Given the description of an element on the screen output the (x, y) to click on. 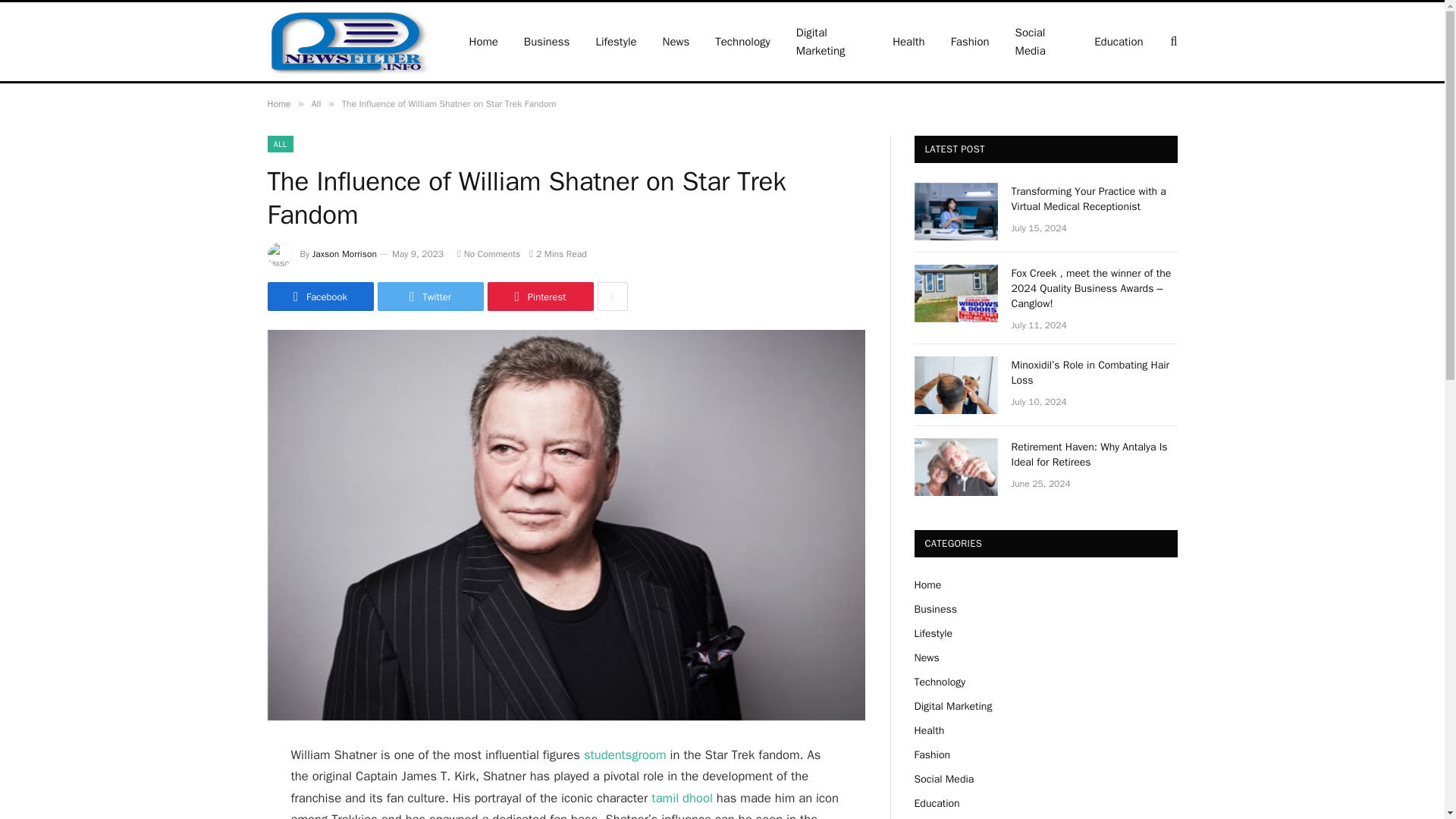
Newsfilter.info (347, 41)
No Comments (488, 254)
ALL (279, 143)
Facebook (319, 296)
tamil dhool (681, 797)
Digital Marketing (831, 41)
Share on Pinterest (539, 296)
studentsgroom (624, 754)
Share on Facebook (319, 296)
Home (277, 103)
Jaxson Morrison (345, 254)
Pinterest (539, 296)
Show More Social Sharing (611, 296)
Twitter (430, 296)
Technology (742, 41)
